Given the description of an element on the screen output the (x, y) to click on. 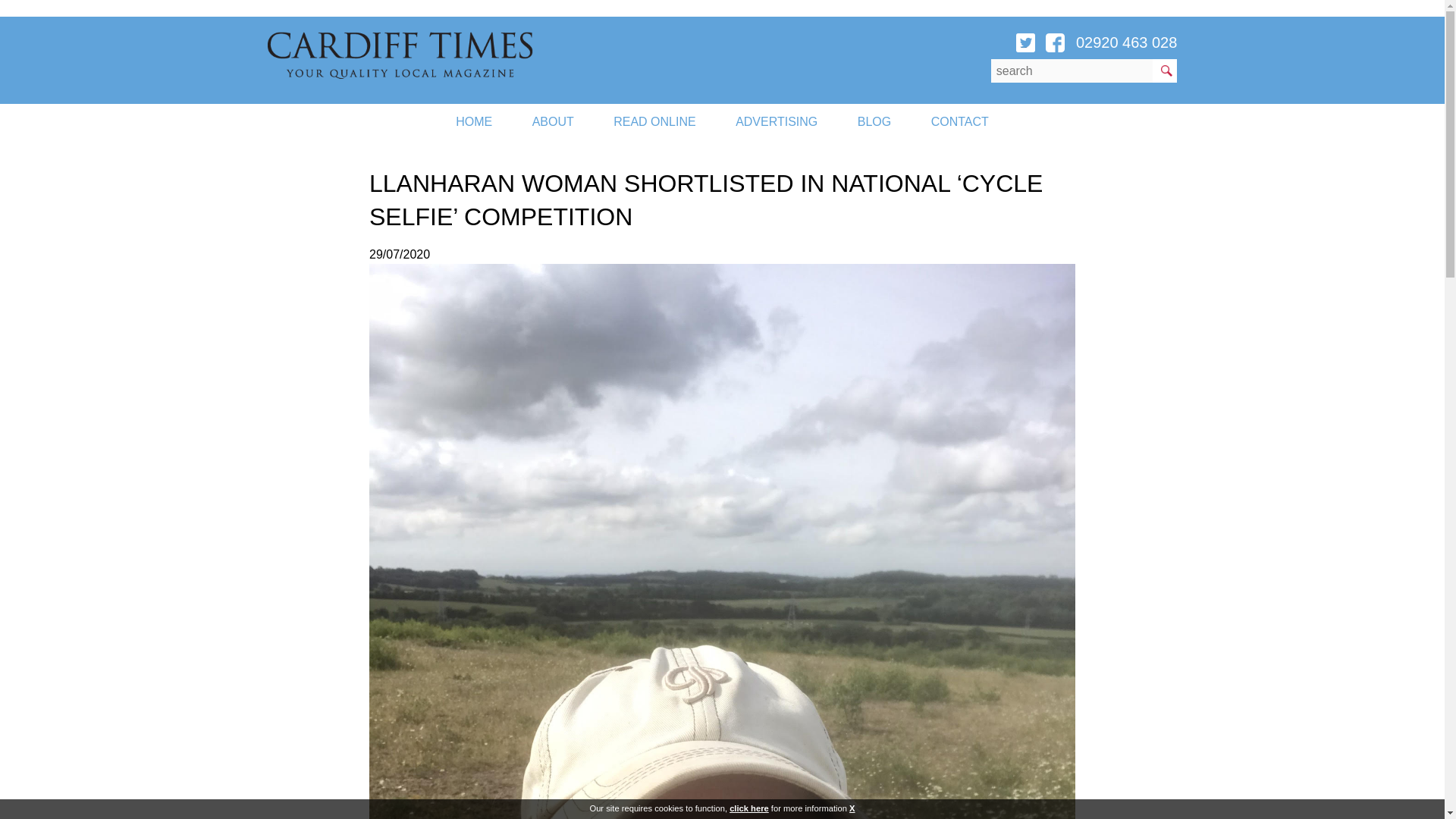
CONTACT (959, 122)
click here (748, 808)
BLOG (874, 122)
ADVERTISING (776, 122)
HOME (474, 122)
READ ONLINE (654, 122)
02920 463 028 (1125, 42)
ABOUT (552, 122)
